Given the description of an element on the screen output the (x, y) to click on. 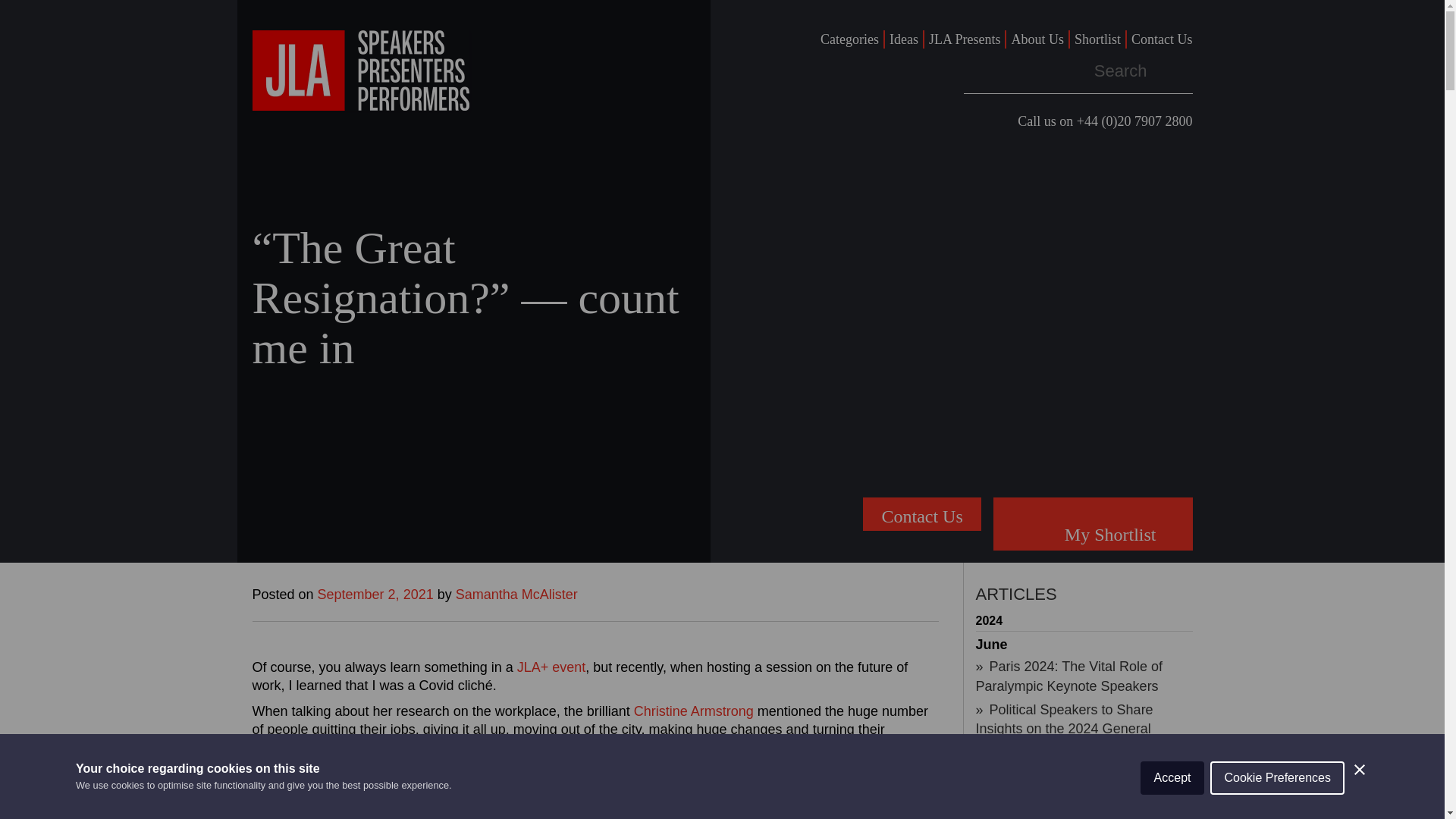
JLA (359, 70)
Posts by Samantha McAlister (516, 594)
Page 1 (594, 738)
Categories (850, 38)
